Given the description of an element on the screen output the (x, y) to click on. 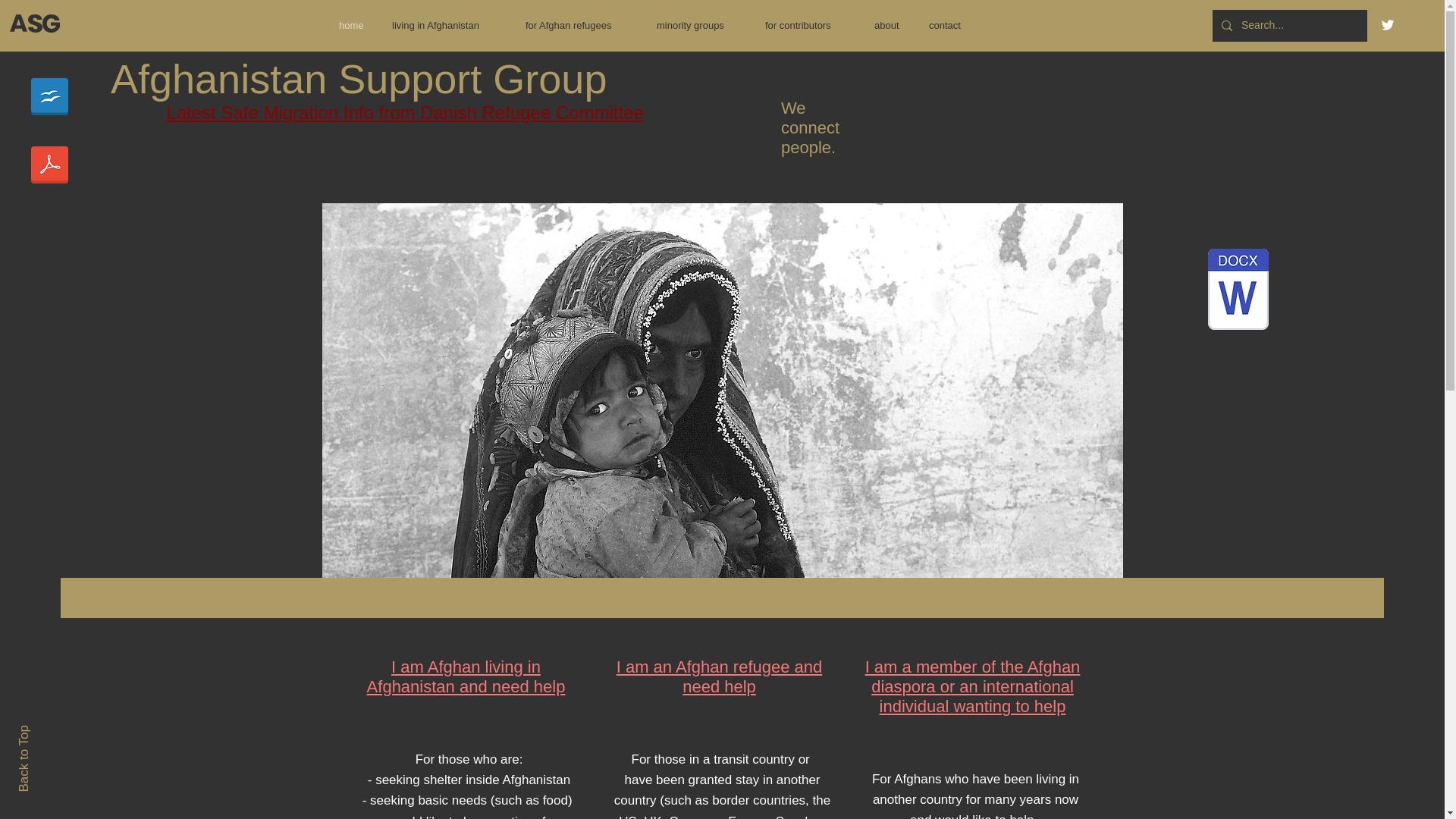
minority groups (699, 25)
contact (950, 25)
for contributors (808, 25)
home (353, 25)
about (890, 25)
Latest Safe Migration Info from Danish Refugee Committee (404, 112)
Afghanistan Support Group (358, 78)
I am Afghan living in Afghanistan and need help (466, 676)
for Afghan refugees (579, 25)
Back to Top (50, 731)
living in Afghanistan (446, 25)
I am an Afghan refugee and need help (718, 676)
